Given the description of an element on the screen output the (x, y) to click on. 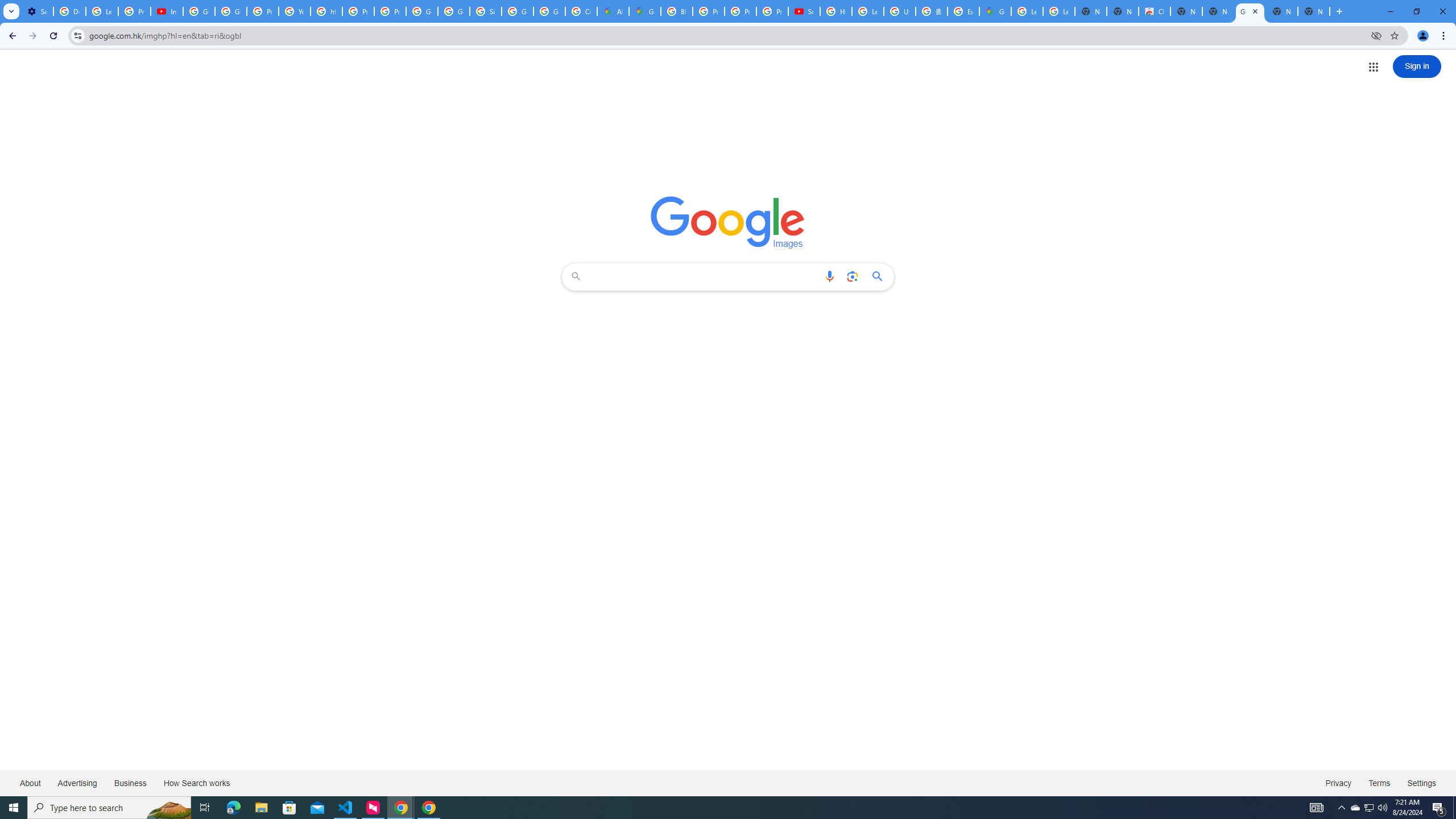
About (30, 782)
Sign in - Google Accounts (485, 11)
Chrome Web Store (1154, 11)
Create your Google Account (581, 11)
Explore new street-level details - Google Maps Help (963, 11)
Introduction | Google Privacy Policy - YouTube (166, 11)
